Given the description of an element on the screen output the (x, y) to click on. 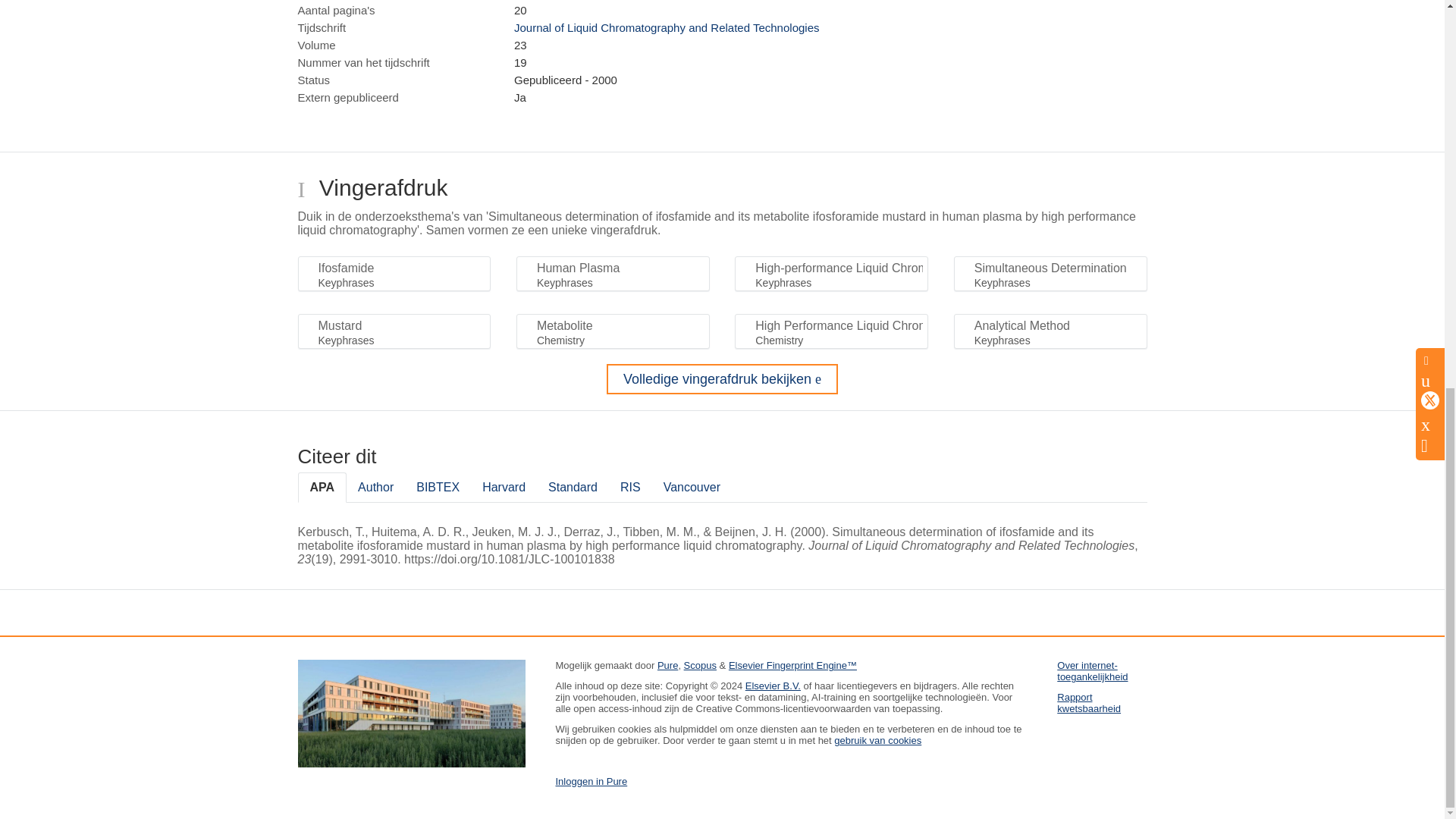
Journal of Liquid Chromatography and Related Technologies (666, 27)
Pure (668, 665)
Scopus (700, 665)
Elsevier B.V. (772, 685)
Volledige vingerafdruk bekijken (722, 378)
